Given the description of an element on the screen output the (x, y) to click on. 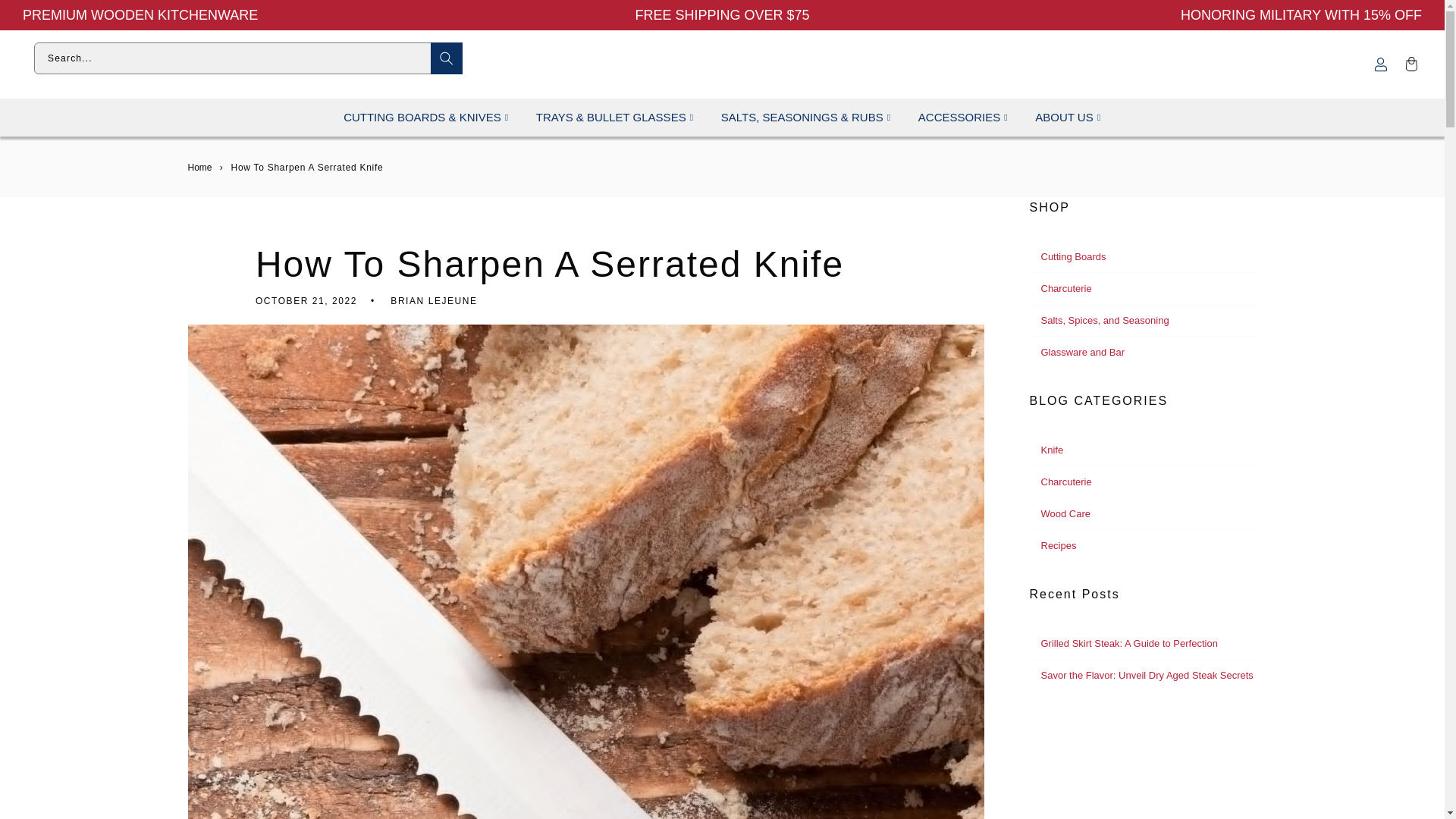
Home (199, 167)
ACCESSORIES (959, 117)
ABOUT US (1064, 117)
